Given the description of an element on the screen output the (x, y) to click on. 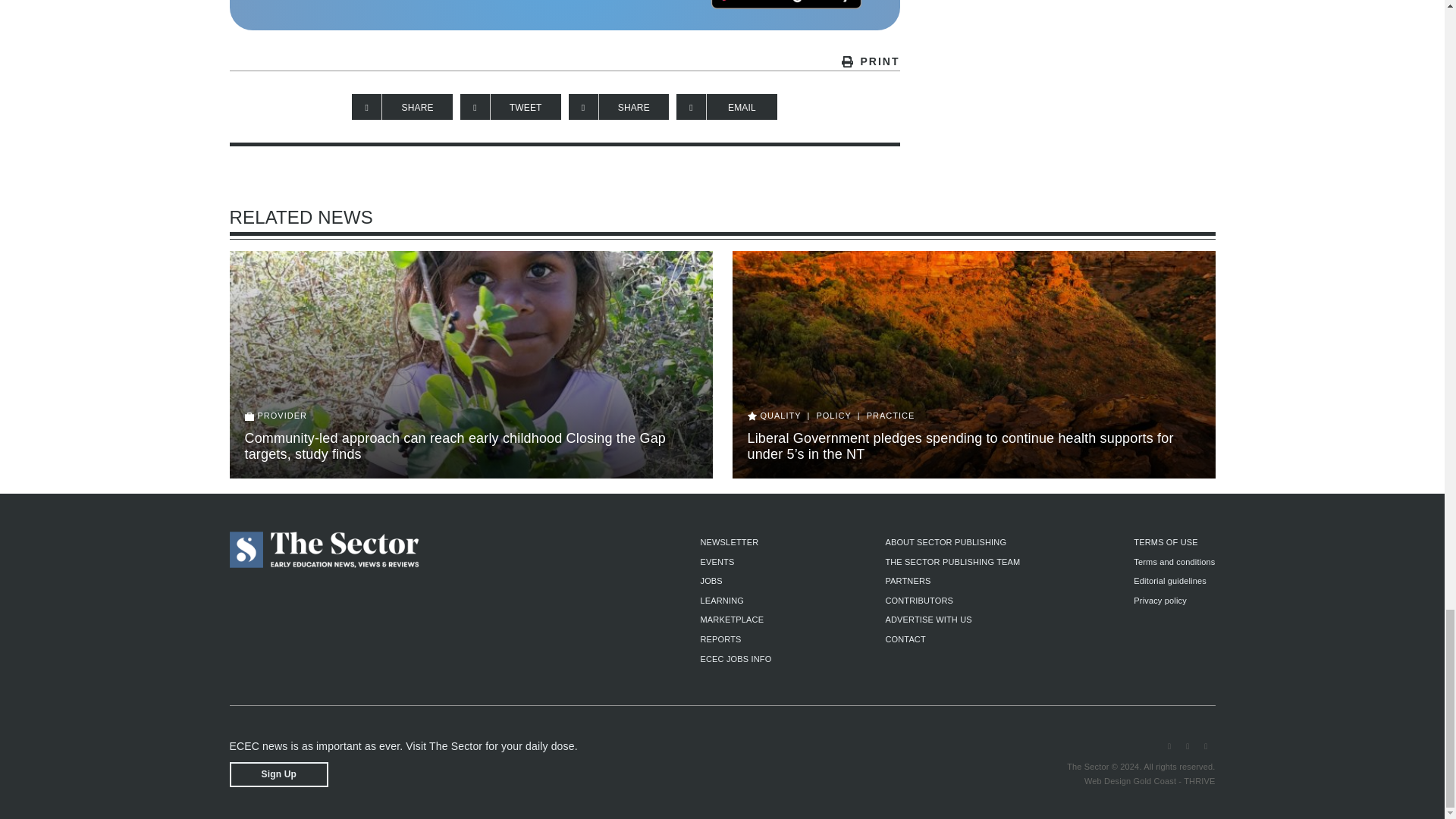
Web Design Gold Coast (1130, 780)
Share on Email (727, 106)
Share on Facebook (402, 106)
Tweet (510, 106)
Share on LinkedIn (619, 106)
